Given the description of an element on the screen output the (x, y) to click on. 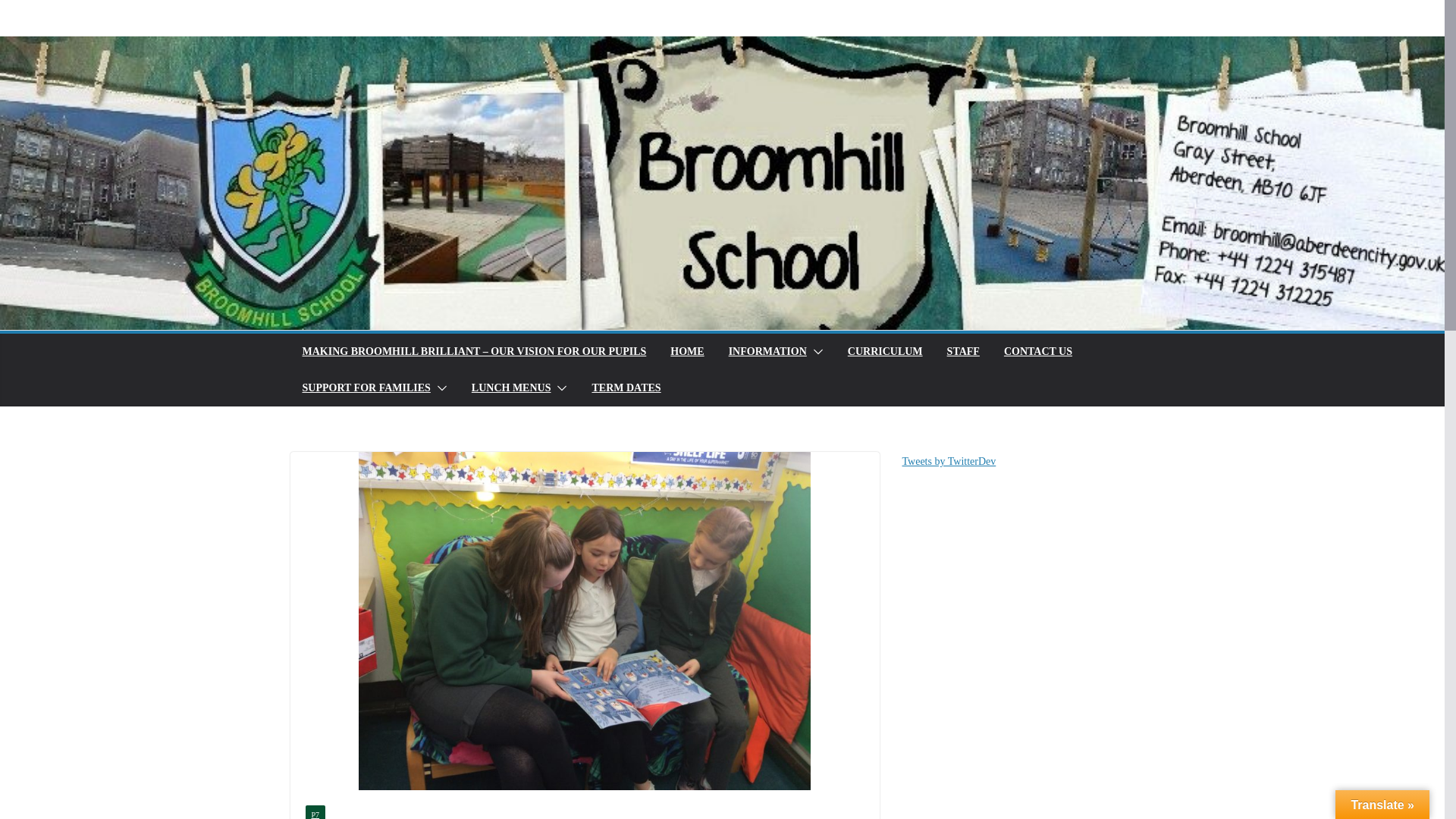
STAFF (963, 351)
HOME (686, 351)
SUPPORT FOR FAMILIES (365, 387)
CURRICULUM (885, 351)
CONTACT US (1037, 351)
INFORMATION (767, 351)
